Given the description of an element on the screen output the (x, y) to click on. 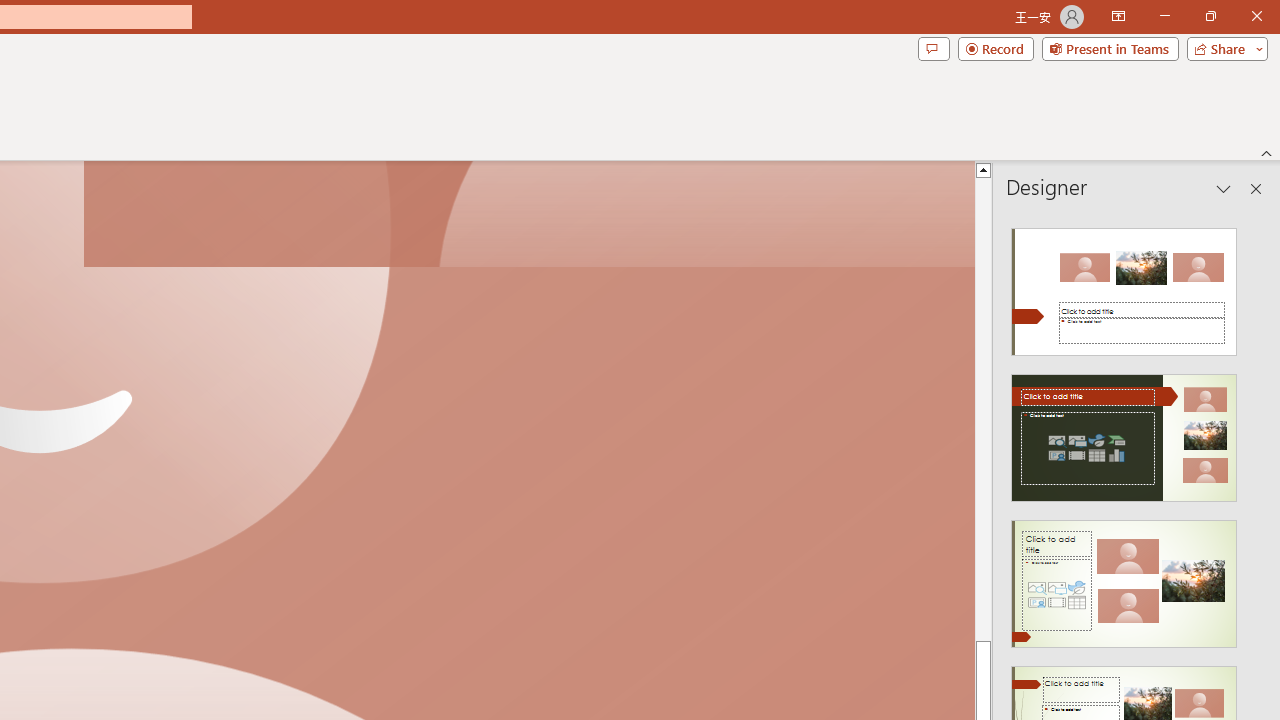
Camera 7, No camera detected. (529, 215)
Design Idea (1124, 577)
